Given the description of an element on the screen output the (x, y) to click on. 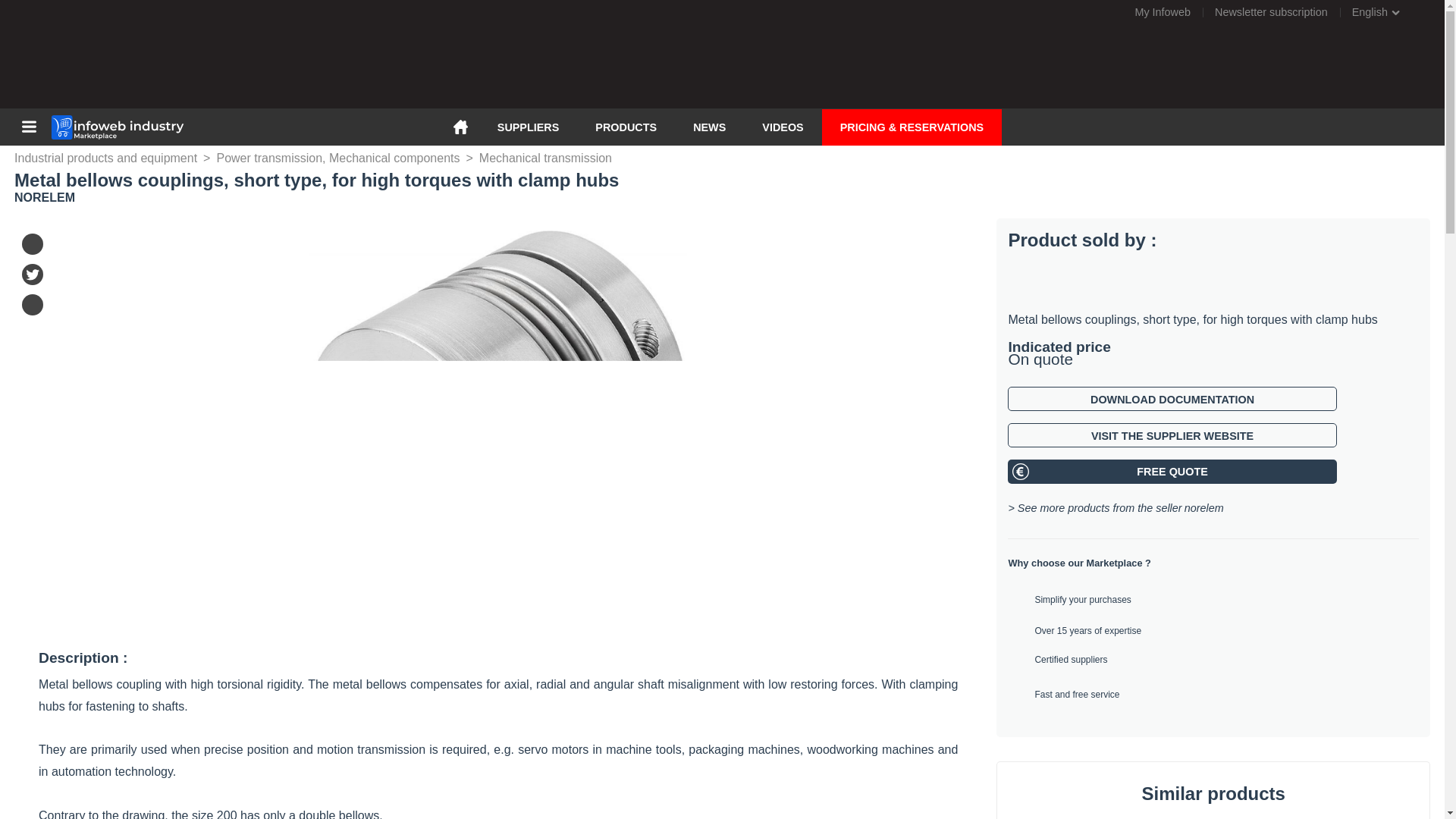
My Infoweb (1162, 12)
norelem (1204, 508)
My Infoweb (1162, 12)
Newsletter subscription (1270, 12)
English (1385, 12)
Newsletter subscription (1270, 12)
International marketplaces (1385, 12)
